Given the description of an element on the screen output the (x, y) to click on. 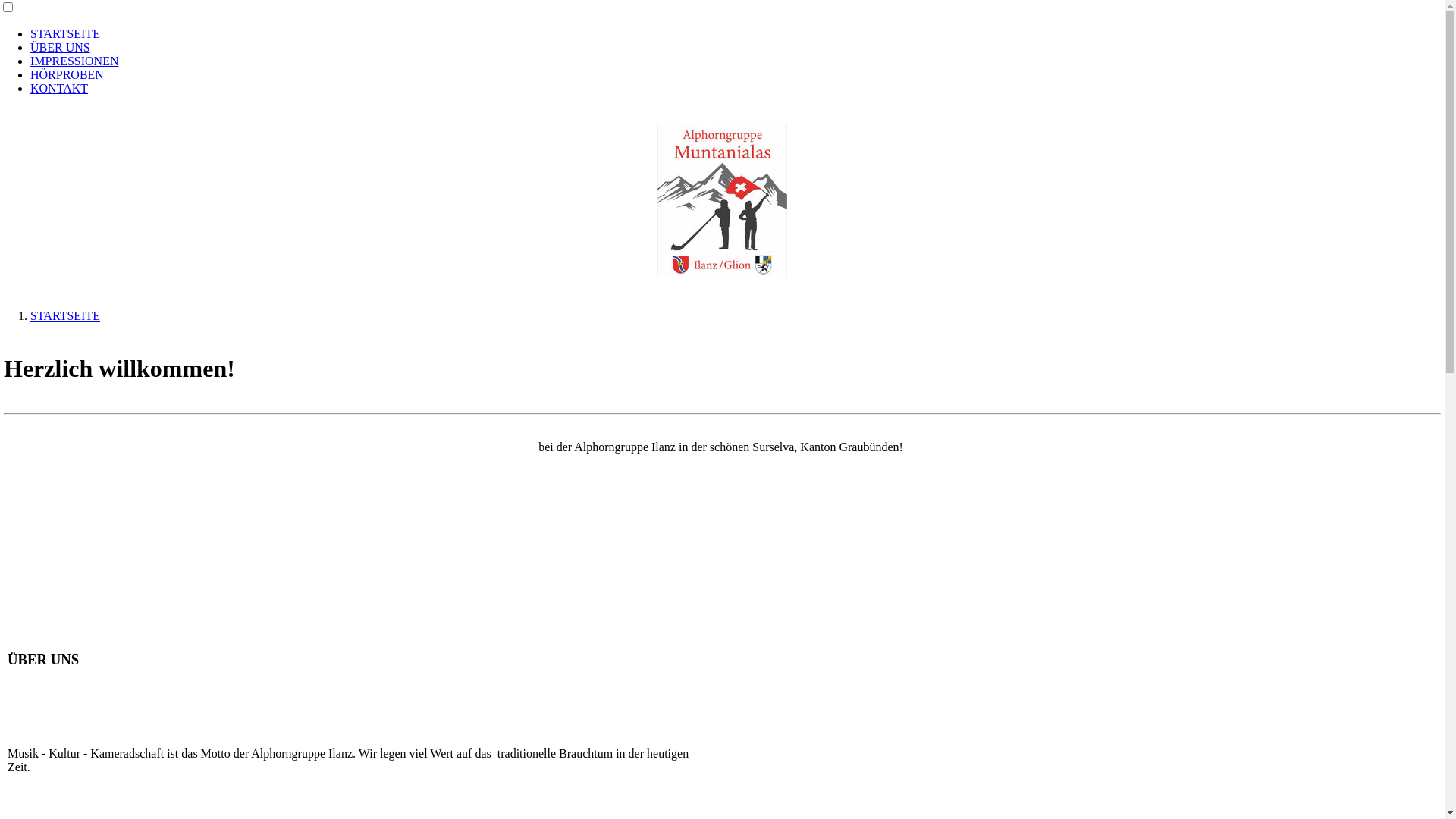
STARTSEITE Element type: text (65, 315)
IMPRESSIONEN Element type: text (74, 60)
KONTAKT Element type: text (58, 87)
STARTSEITE Element type: text (65, 33)
